Given the description of an element on the screen output the (x, y) to click on. 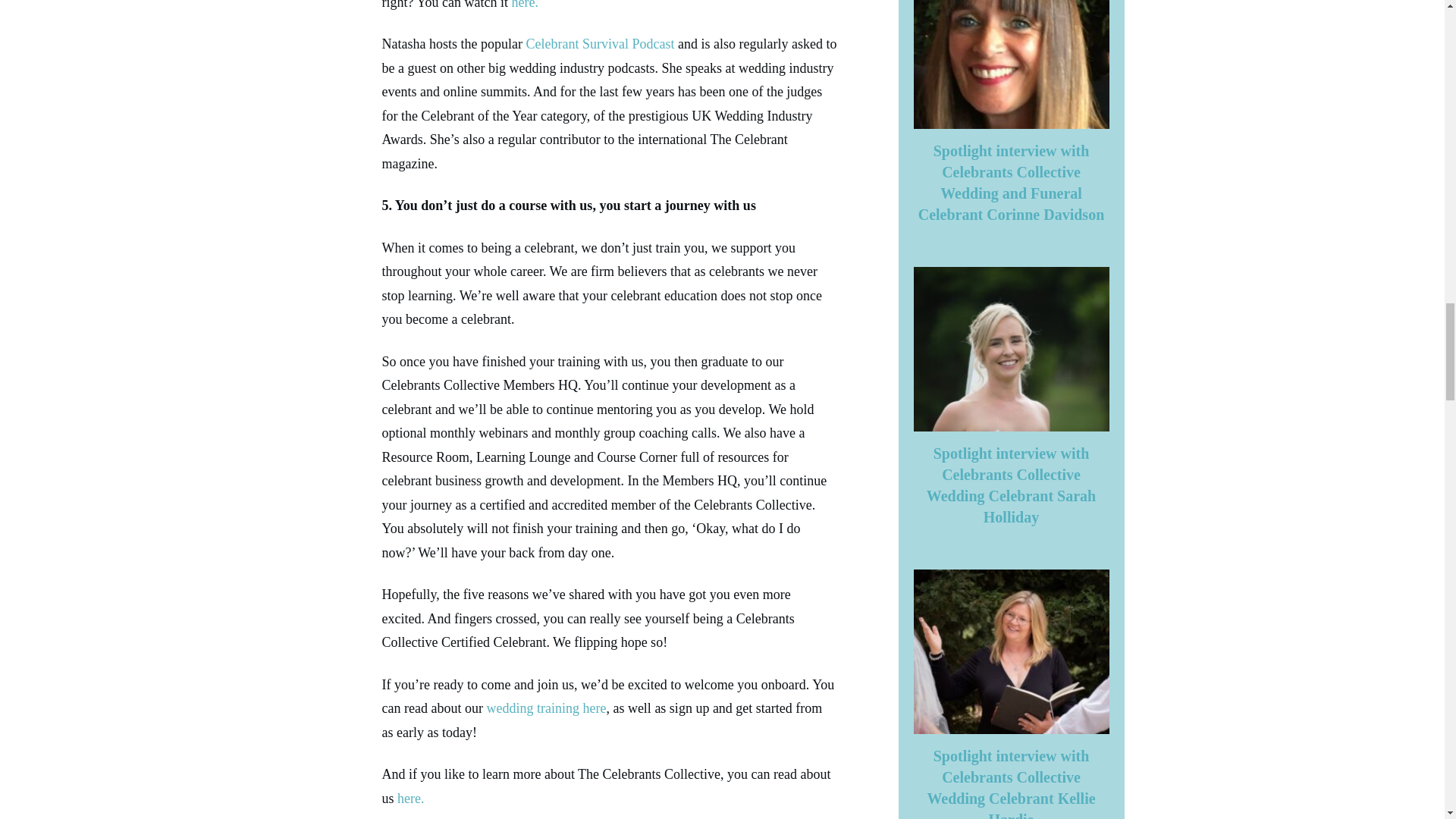
wedding training here (545, 708)
here. (410, 798)
here. (524, 4)
Celebrant Survival Podcast (599, 43)
